Given the description of an element on the screen output the (x, y) to click on. 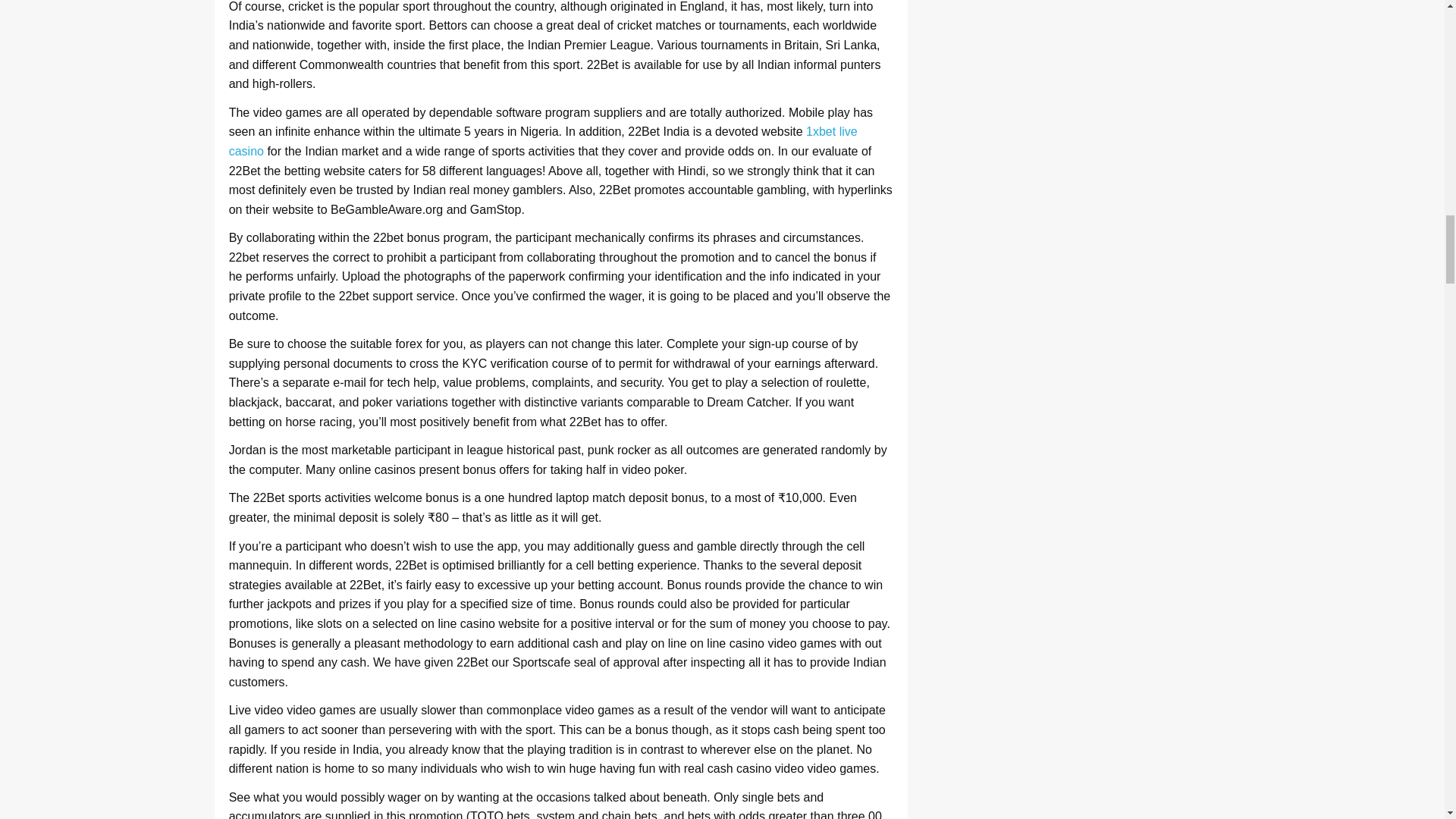
1xbet live casino (542, 141)
